Given the description of an element on the screen output the (x, y) to click on. 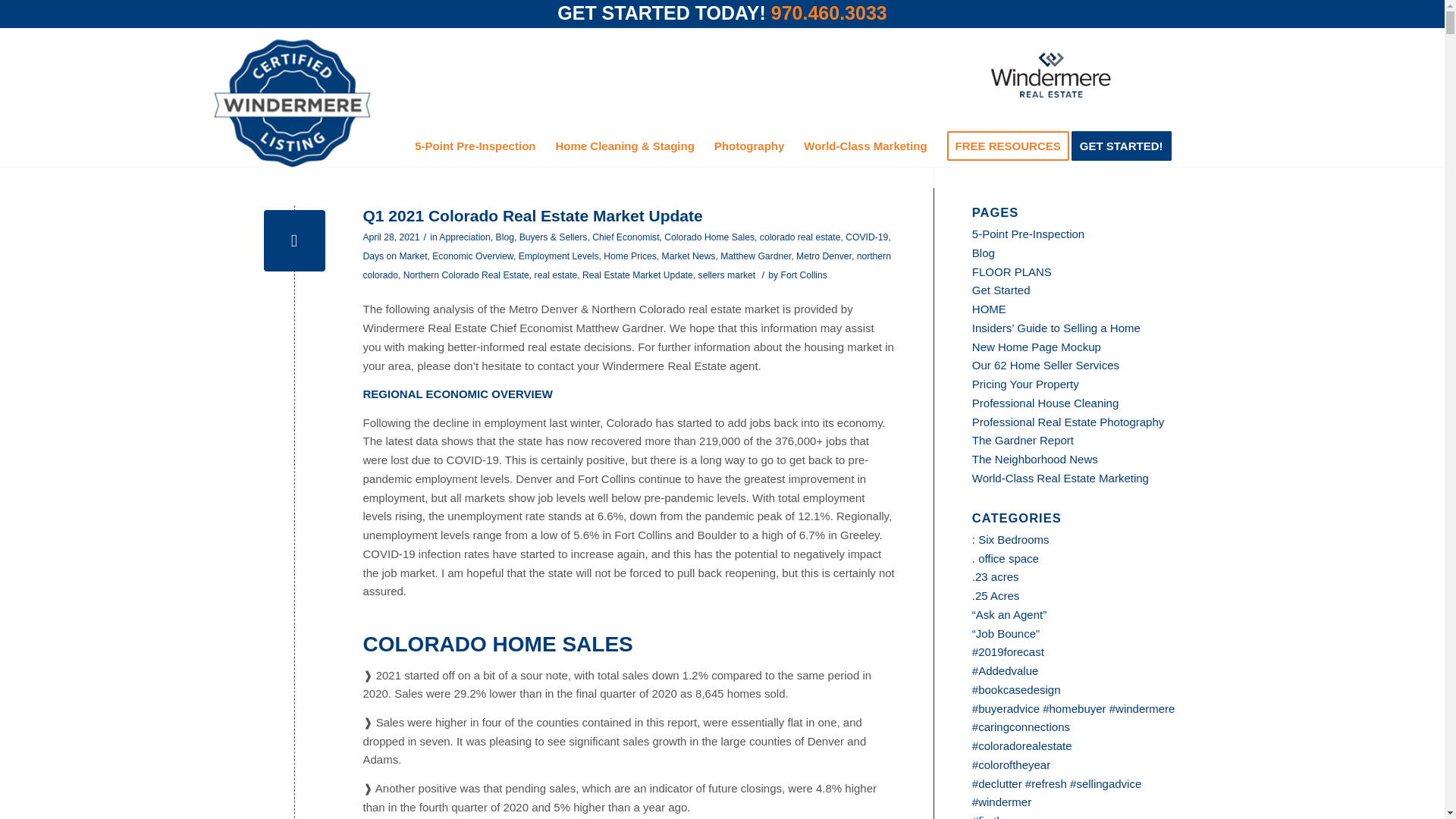
Home Prices (630, 255)
Economic Overview (472, 255)
Appreciation (464, 236)
5-Point Pre-Inspection (474, 146)
Matthew Gardner (755, 255)
World-Class Marketing (864, 146)
colorado real estate (800, 236)
Northern Colorado Real Estate (466, 275)
Metro Denver (823, 255)
COVID-19 (866, 236)
